Given the description of an element on the screen output the (x, y) to click on. 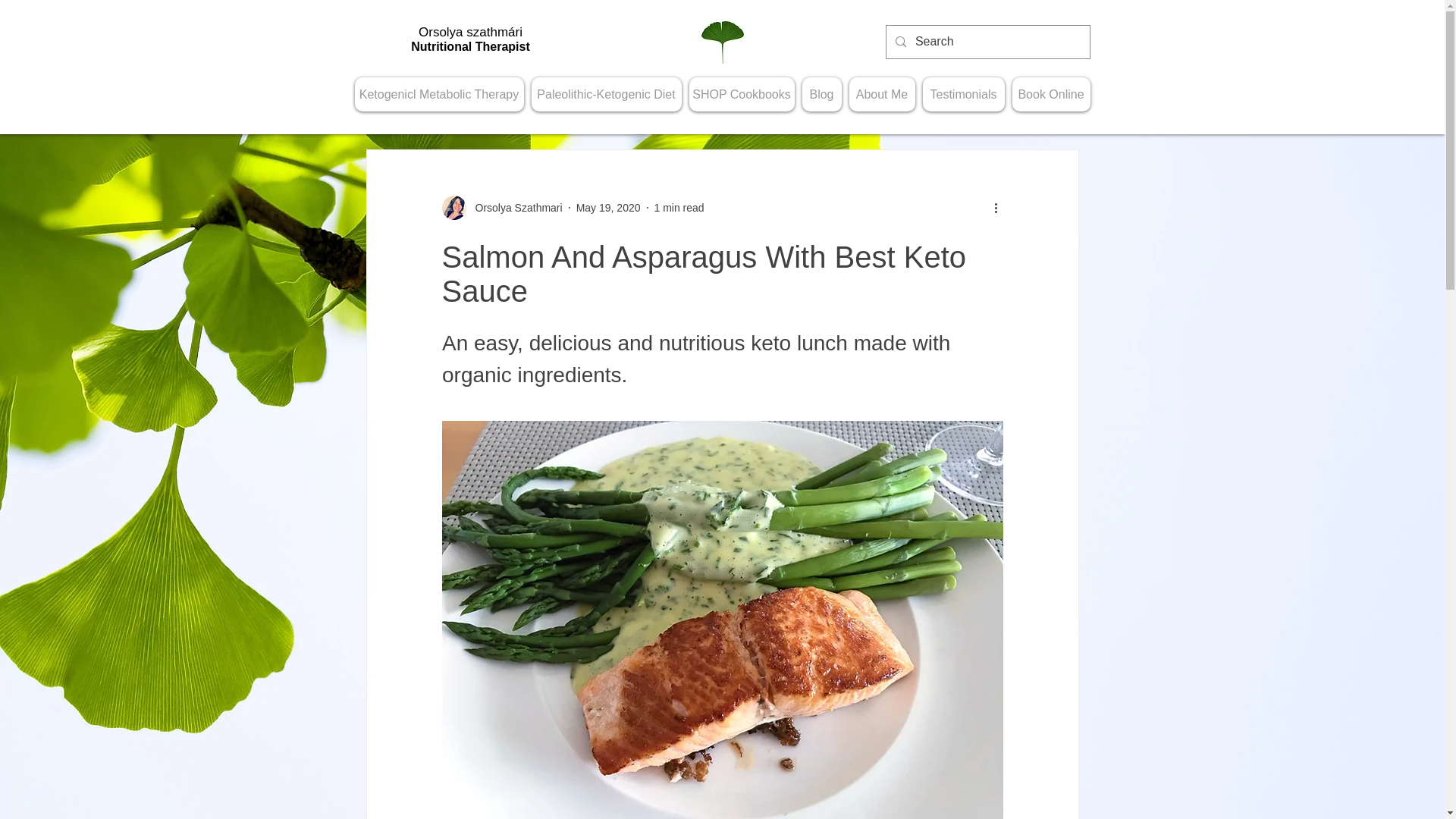
SHOP Cookbooks (740, 93)
May 19, 2020 (608, 207)
Home (721, 42)
Ketogenicl Metabolic Therapy (439, 93)
Orsolya Szathmari (513, 207)
1 min read (678, 207)
Blog (821, 93)
Paleolithic-Ketogenic Diet (606, 93)
Nutritional Therapist (469, 46)
Testimonials (962, 93)
About Me (881, 93)
Book Online (1050, 93)
